Given the description of an element on the screen output the (x, y) to click on. 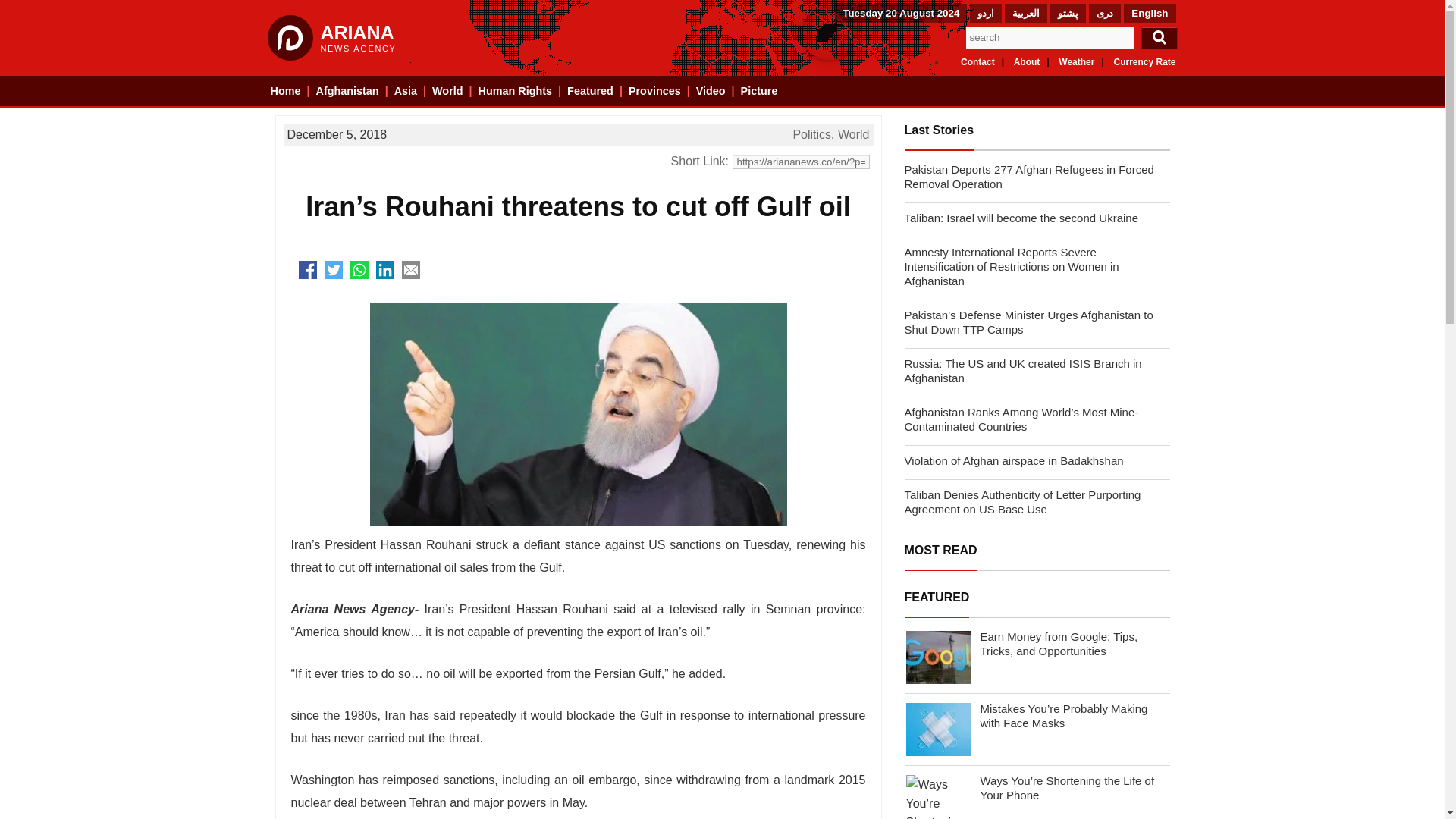
World (447, 91)
Contact (977, 61)
About (1027, 61)
English (1149, 12)
Provinces (654, 91)
Currency Rate (1143, 61)
Weather (1076, 61)
Afghanistan (346, 91)
Picture (759, 91)
Asia (405, 91)
